Given the description of an element on the screen output the (x, y) to click on. 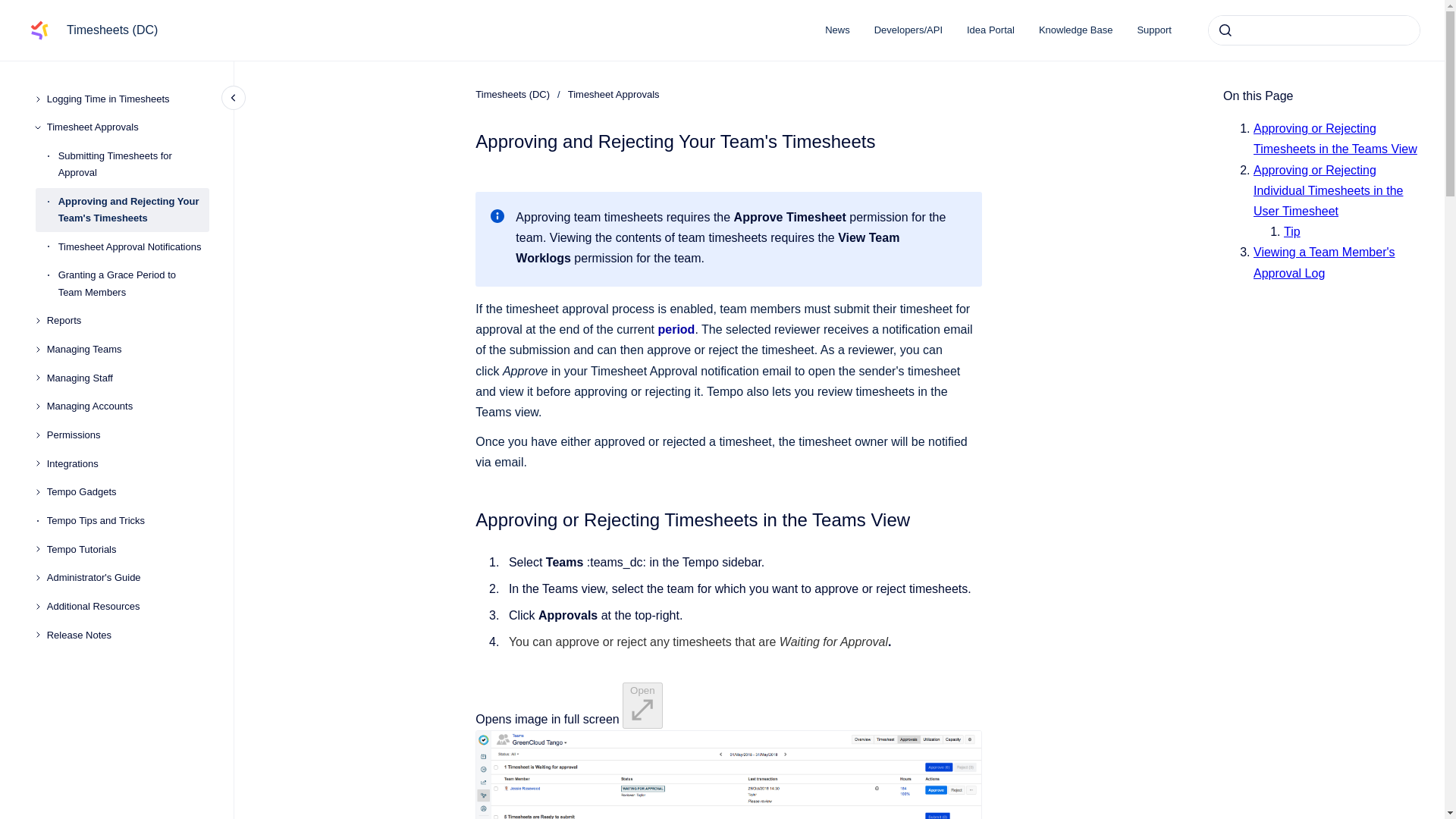
Managing Teams (127, 349)
Granting a Grace Period to Team Members (133, 284)
Go to homepage (39, 30)
Idea Portal (990, 29)
Managing Accounts (127, 406)
Tempo Tutorials (127, 549)
Logging Time in Timesheets (127, 99)
Approving and Rejecting Your Team's Timesheets (133, 209)
News (836, 29)
Tempo Gadgets (127, 492)
Integrations (127, 463)
Knowledge Base (1075, 29)
Tempo Tips and Tricks (127, 520)
Submitting Timesheets for Approval (133, 164)
Reports (127, 320)
